Given the description of an element on the screen output the (x, y) to click on. 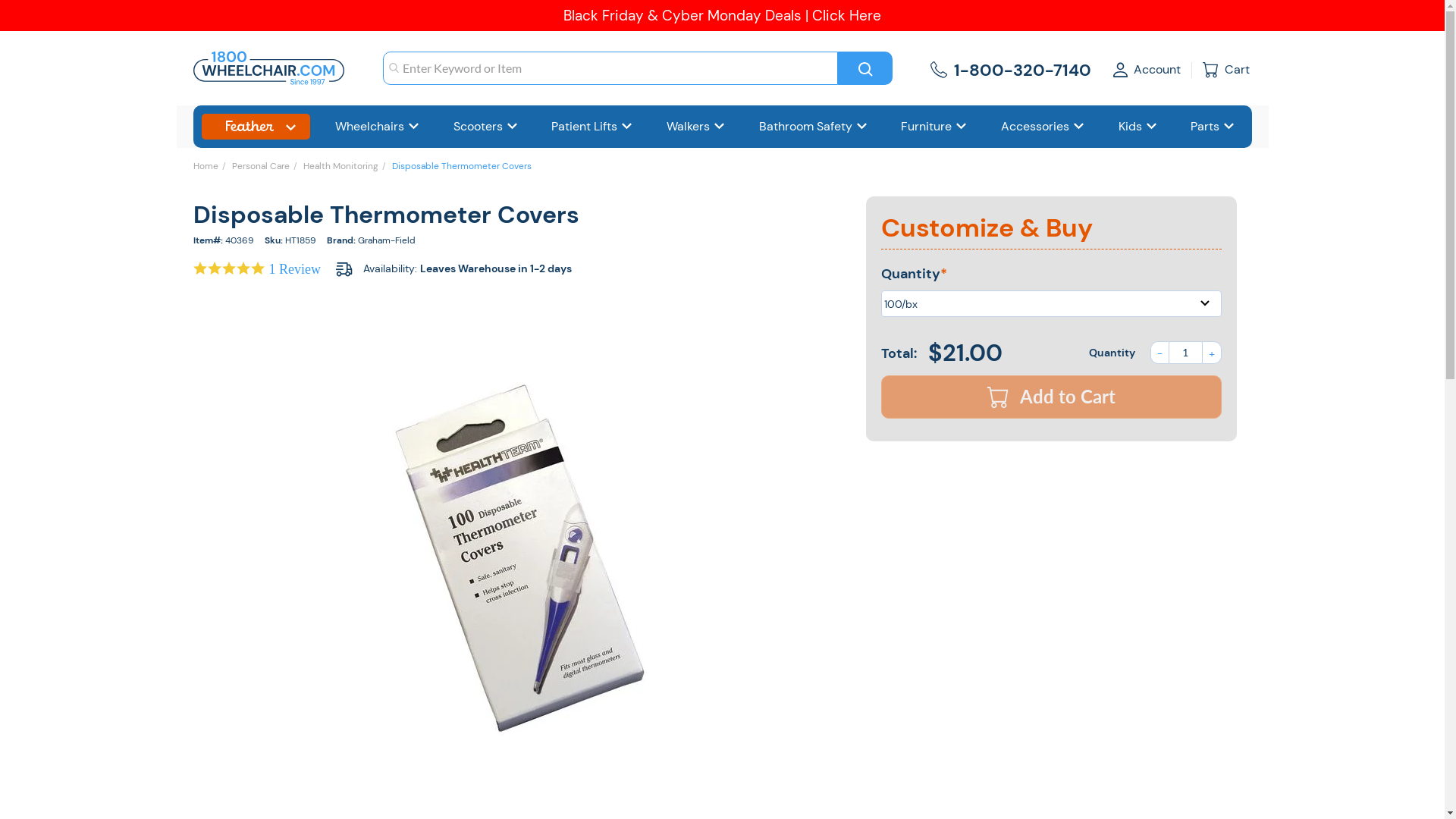
Kids Element type: text (1137, 126)
Scooters Element type: text (485, 126)
Search Element type: hover (864, 67)
Black Friday & Cyber Monday Deals | Click Here Element type: text (722, 15)
Accessories Element type: text (1042, 126)
Furniture Element type: text (934, 126)
Qty Element type: hover (1184, 352)
Bathroom Safety Element type: text (813, 126)
1-800-320-7140 Element type: text (1020, 68)
Wheelchairs Element type: text (377, 126)
Add to Cart Element type: text (1051, 396)
Cart Element type: text (1227, 69)
Patient Lifts Element type: text (591, 126)
Parts Element type: text (1212, 126)
Account Element type: text (1146, 68)
Walkers Element type: text (695, 126)
